Given the description of an element on the screen output the (x, y) to click on. 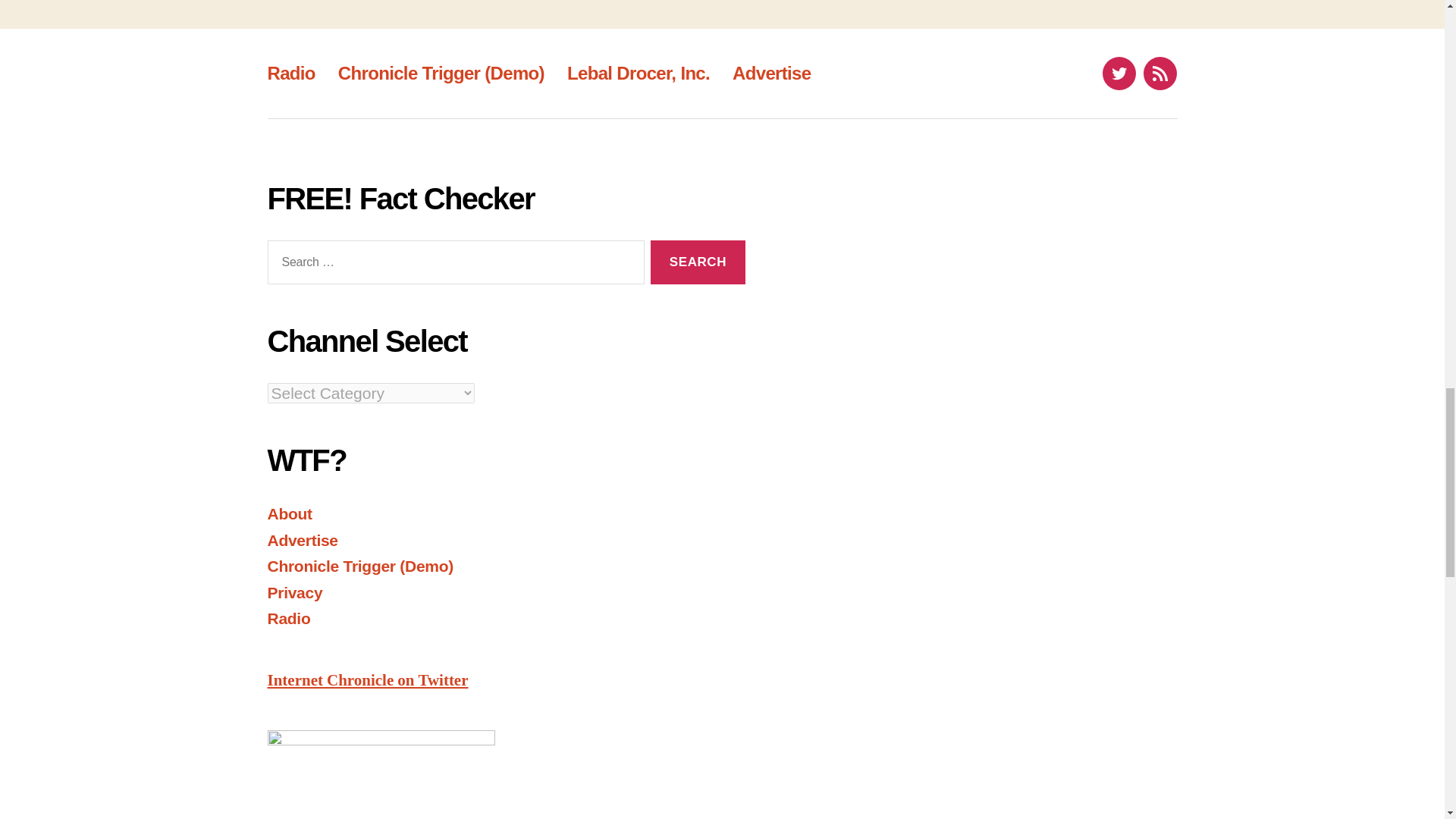
Search (697, 262)
About (288, 513)
Privacy (293, 592)
Advertise (771, 73)
News Feed (1159, 73)
Search (697, 262)
Twitter (1118, 73)
Radio (290, 73)
Lebal Drocer, Inc. (638, 73)
Advertise (301, 539)
